Given the description of an element on the screen output the (x, y) to click on. 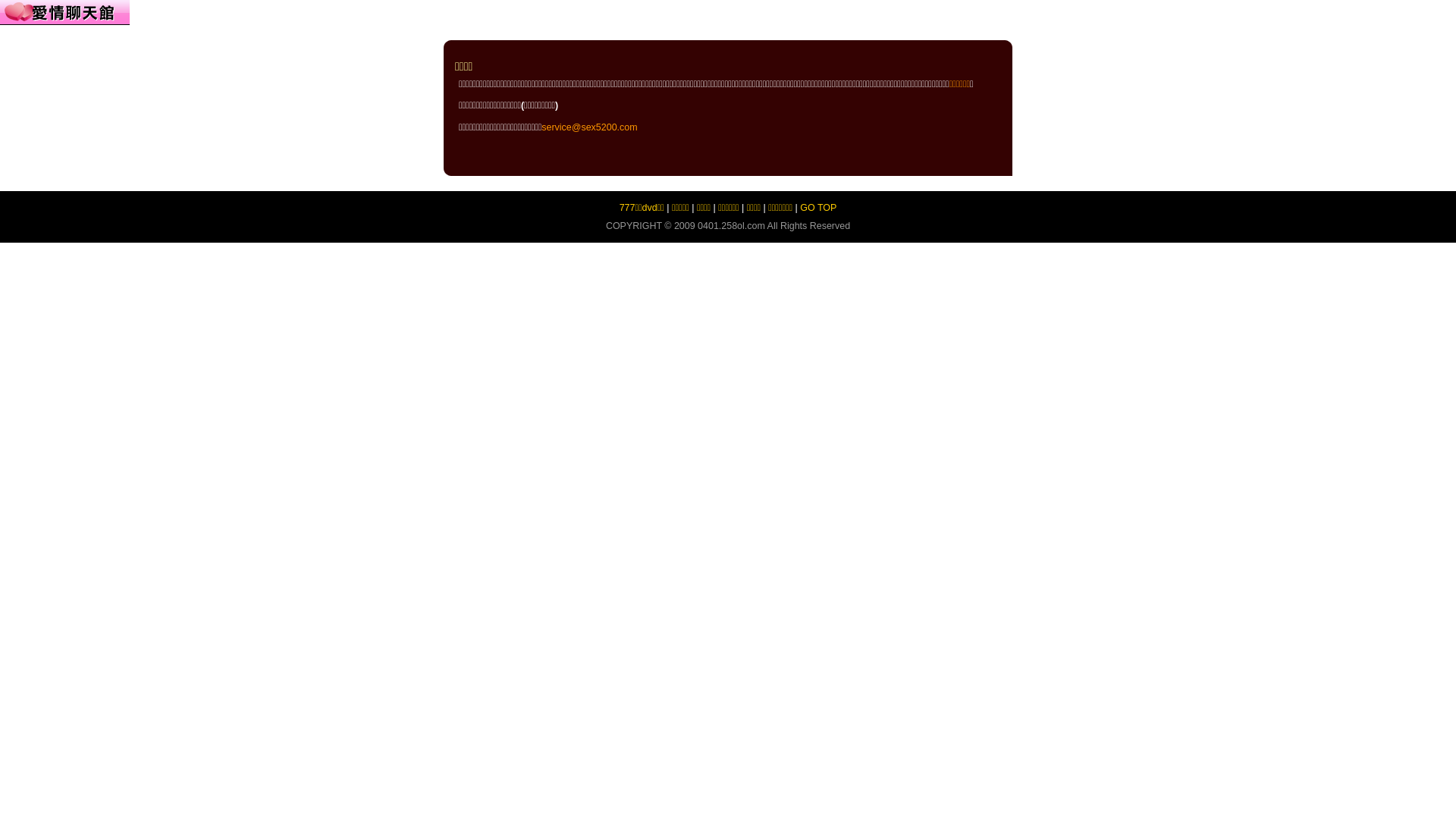
service@sex5200.com Element type: text (589, 127)
GO TOP Element type: text (818, 207)
0401.258ol.com Element type: text (731, 225)
